Given the description of an element on the screen output the (x, y) to click on. 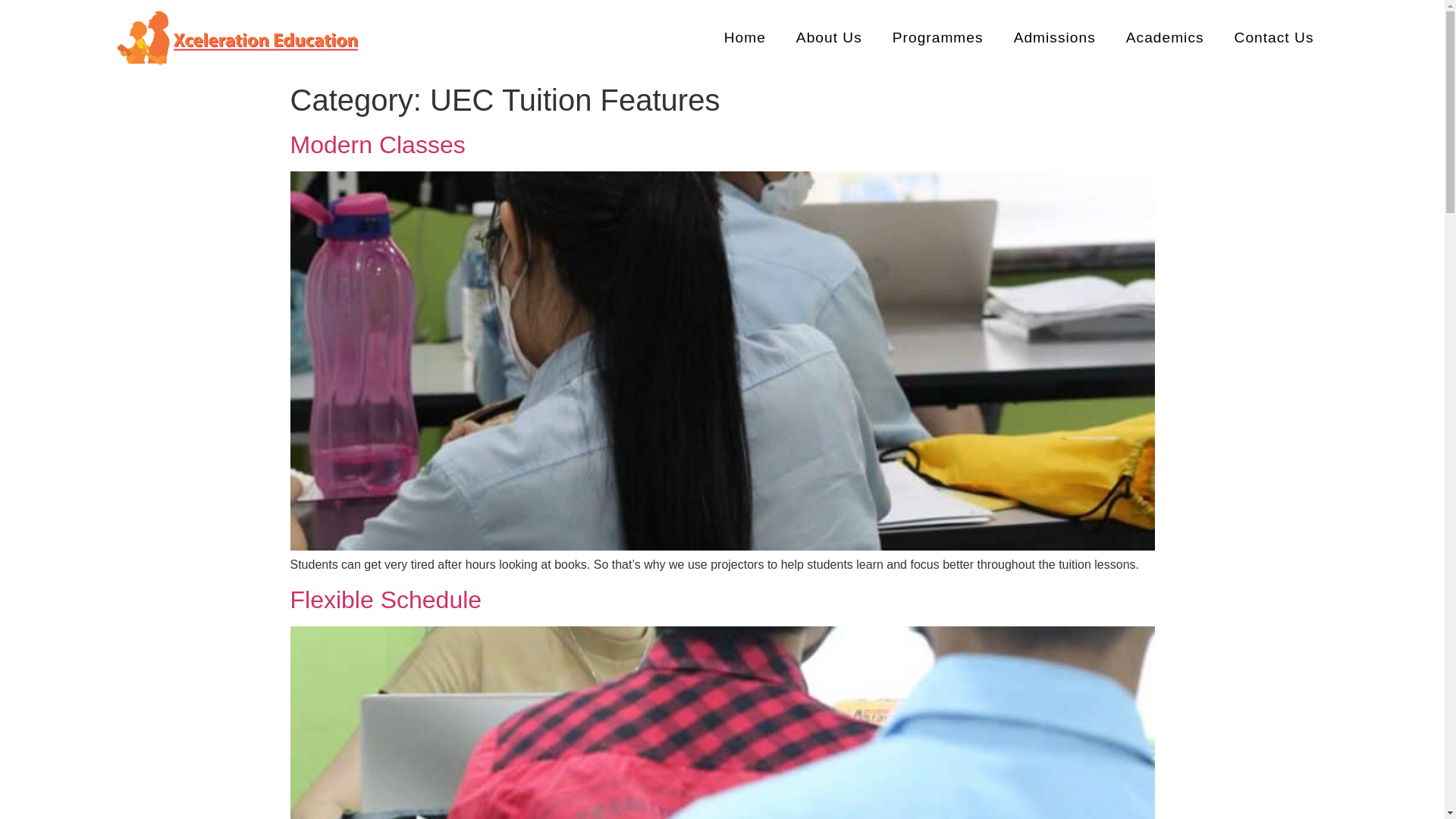
Programmes (937, 37)
Admissions (1054, 37)
Home (744, 37)
Contact Us (1274, 37)
About Us (828, 37)
Academics (1165, 37)
